Given the description of an element on the screen output the (x, y) to click on. 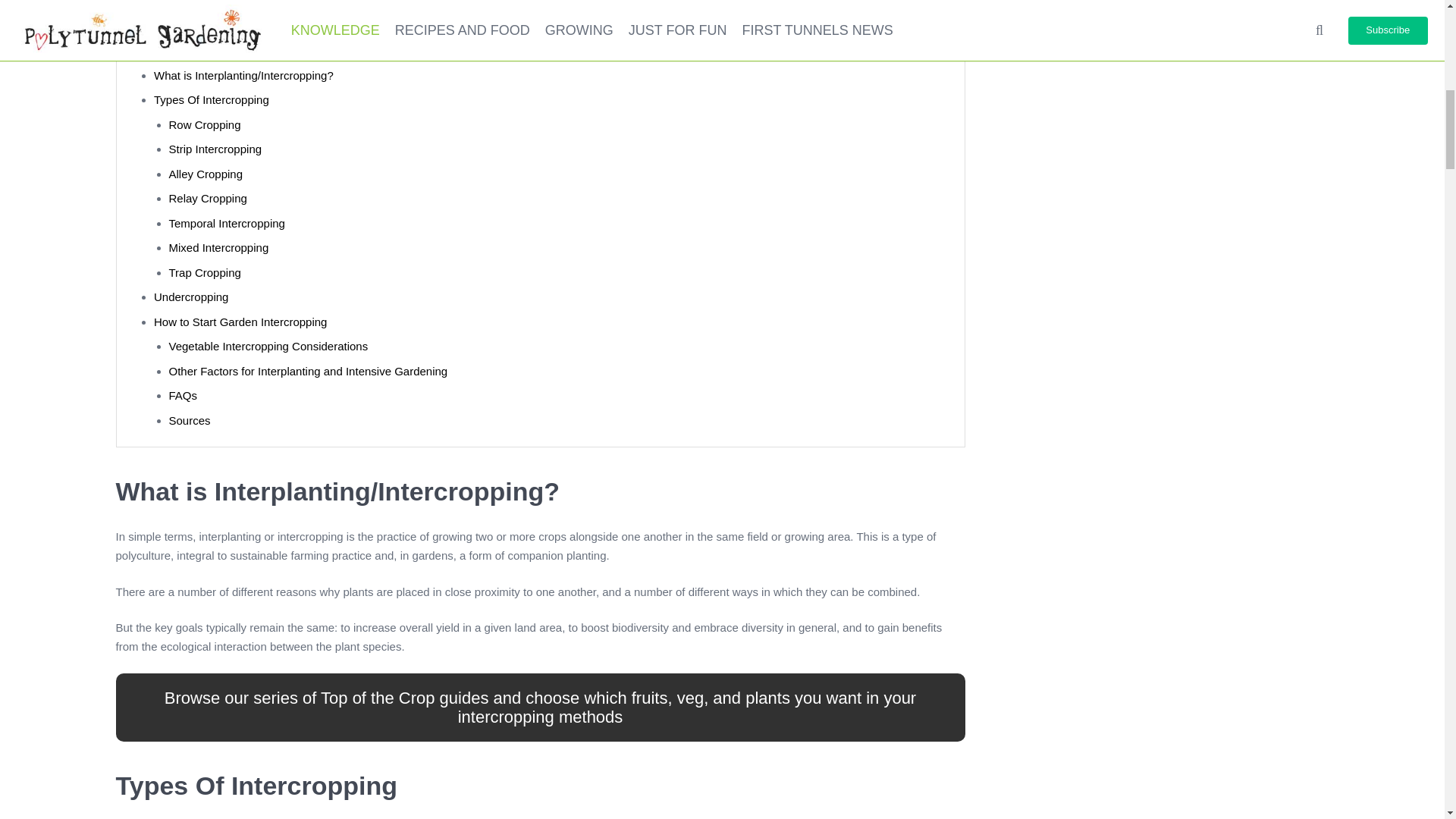
Alley Cropping (205, 173)
Mixed Intercropping (217, 246)
Vegetable Intercropping Considerations (268, 345)
How to Start Garden Intercropping (240, 321)
Temporal Intercropping (225, 223)
Trap Cropping (204, 272)
Back to top (1413, 26)
Row Cropping (204, 124)
Strip Intercropping (215, 148)
Types Of Intercropping (211, 99)
